Given the description of an element on the screen output the (x, y) to click on. 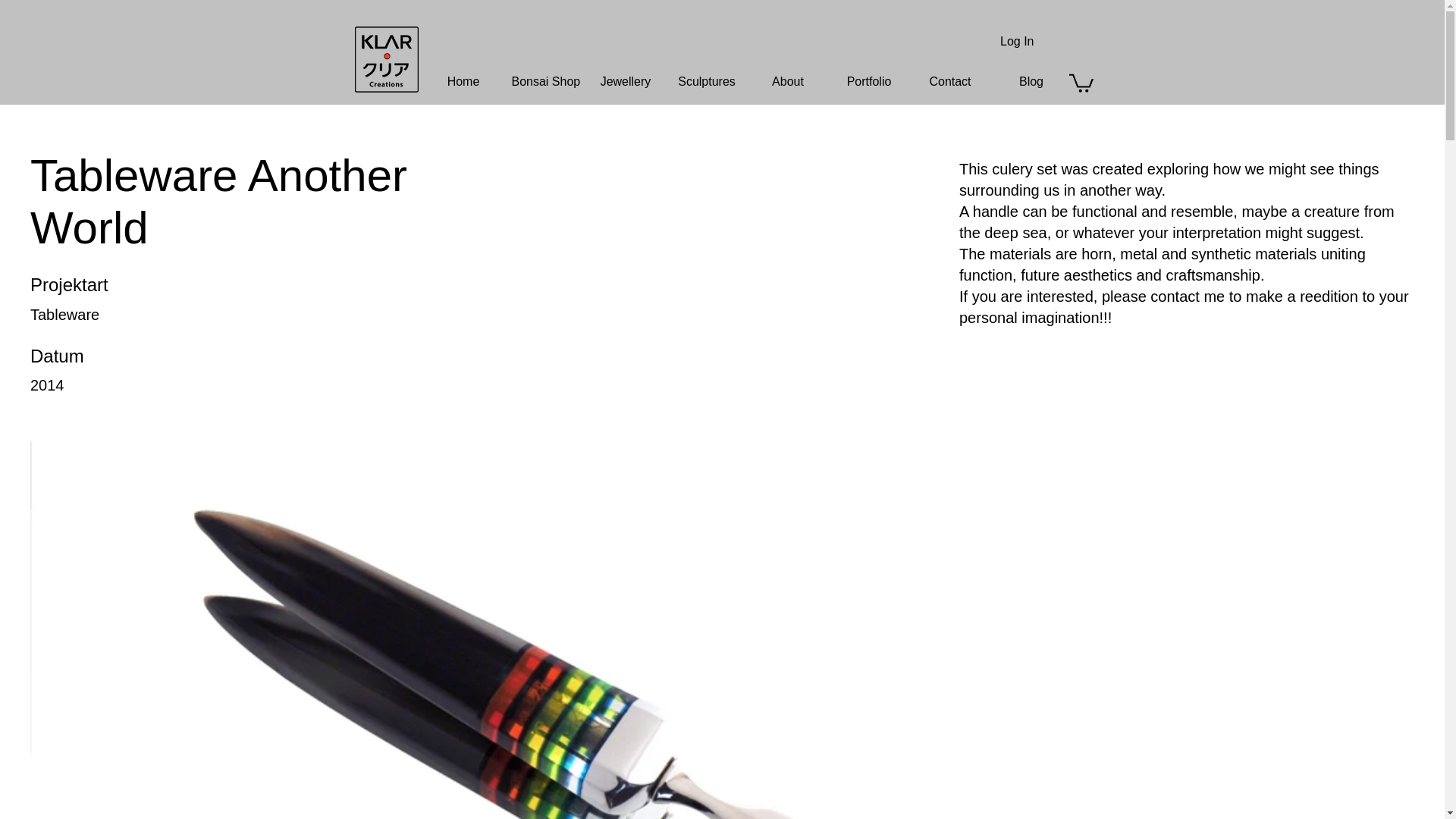
Log In (1016, 41)
Contact (950, 81)
About (788, 81)
Home (463, 81)
Sculptures (705, 81)
Jewellery (625, 81)
KLAR Creations (387, 59)
Portfolio (868, 81)
Bonsai Shop (544, 81)
Blog (1030, 81)
